Given the description of an element on the screen output the (x, y) to click on. 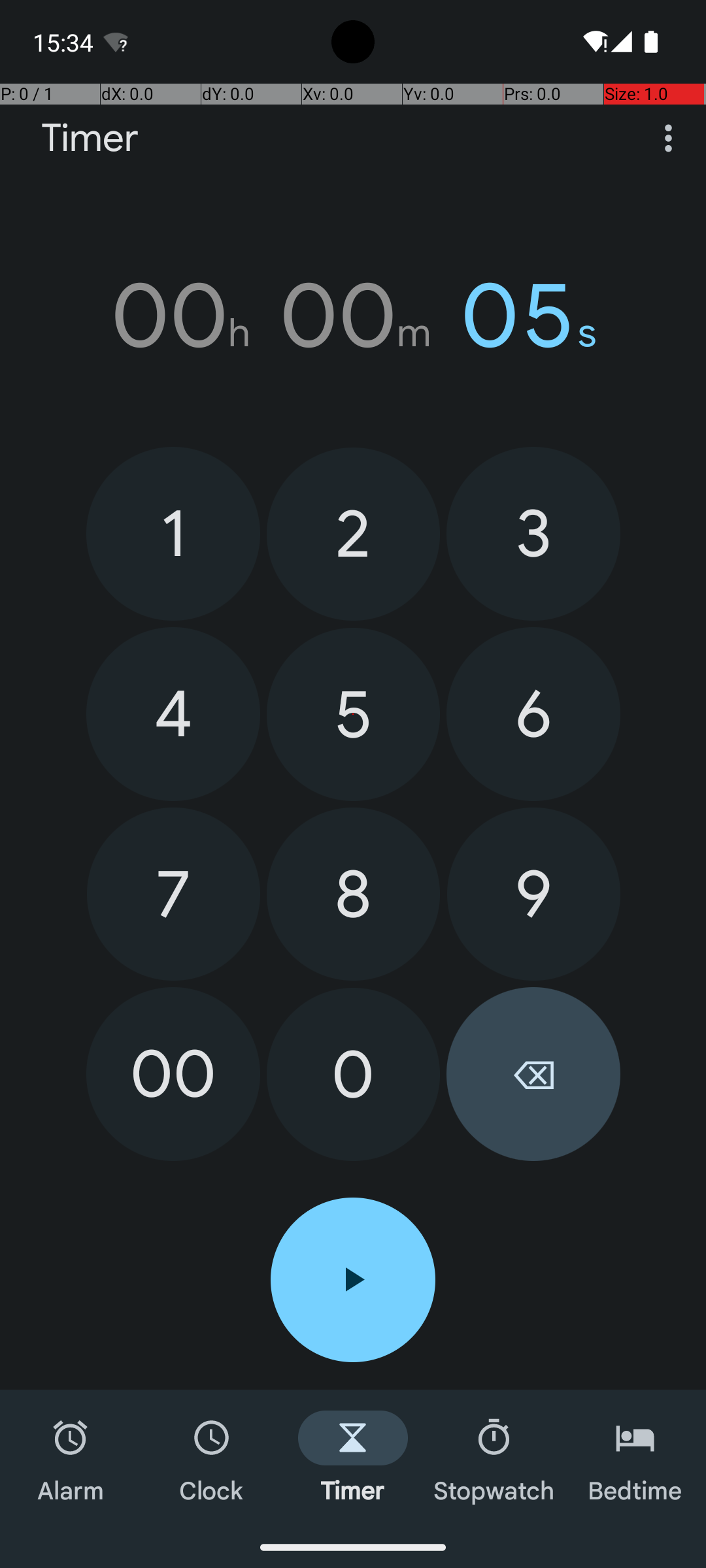
00h 00m 05s Element type: android.widget.TextView (353, 315)
